Given the description of an element on the screen output the (x, y) to click on. 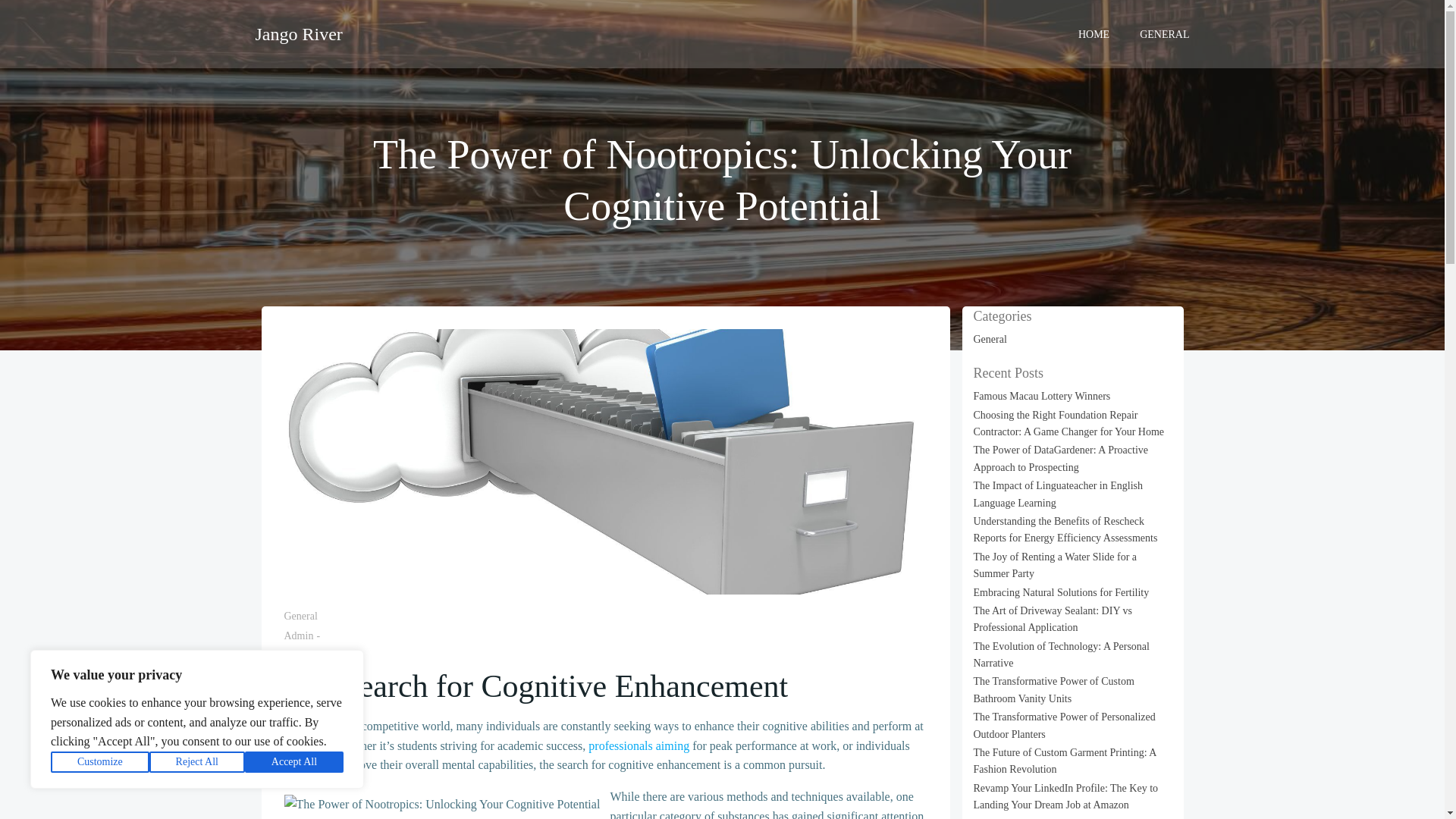
General (990, 338)
Customize (99, 762)
Admin (298, 635)
Jango River (298, 33)
GENERAL (1164, 33)
Reject All (196, 762)
Accept All (293, 762)
professionals aiming (638, 745)
General (300, 616)
HOME (1093, 33)
